Given the description of an element on the screen output the (x, y) to click on. 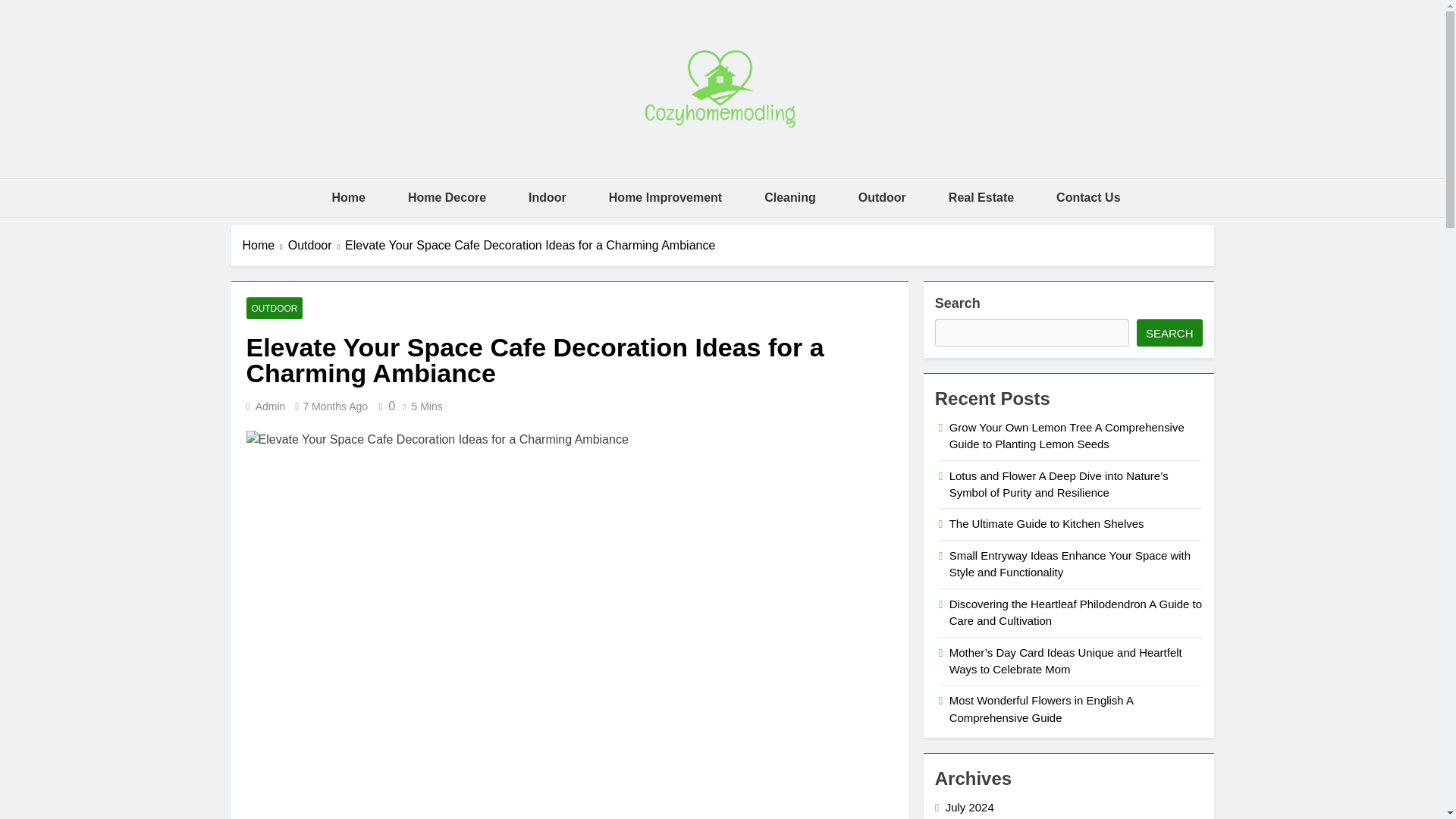
Contact Us (1088, 198)
Home Decore (446, 198)
Real Estate (980, 198)
Indoor (547, 198)
Outdoor (882, 198)
Home (347, 198)
Cleaning (790, 198)
Home Improvement (665, 198)
